Given the description of an element on the screen output the (x, y) to click on. 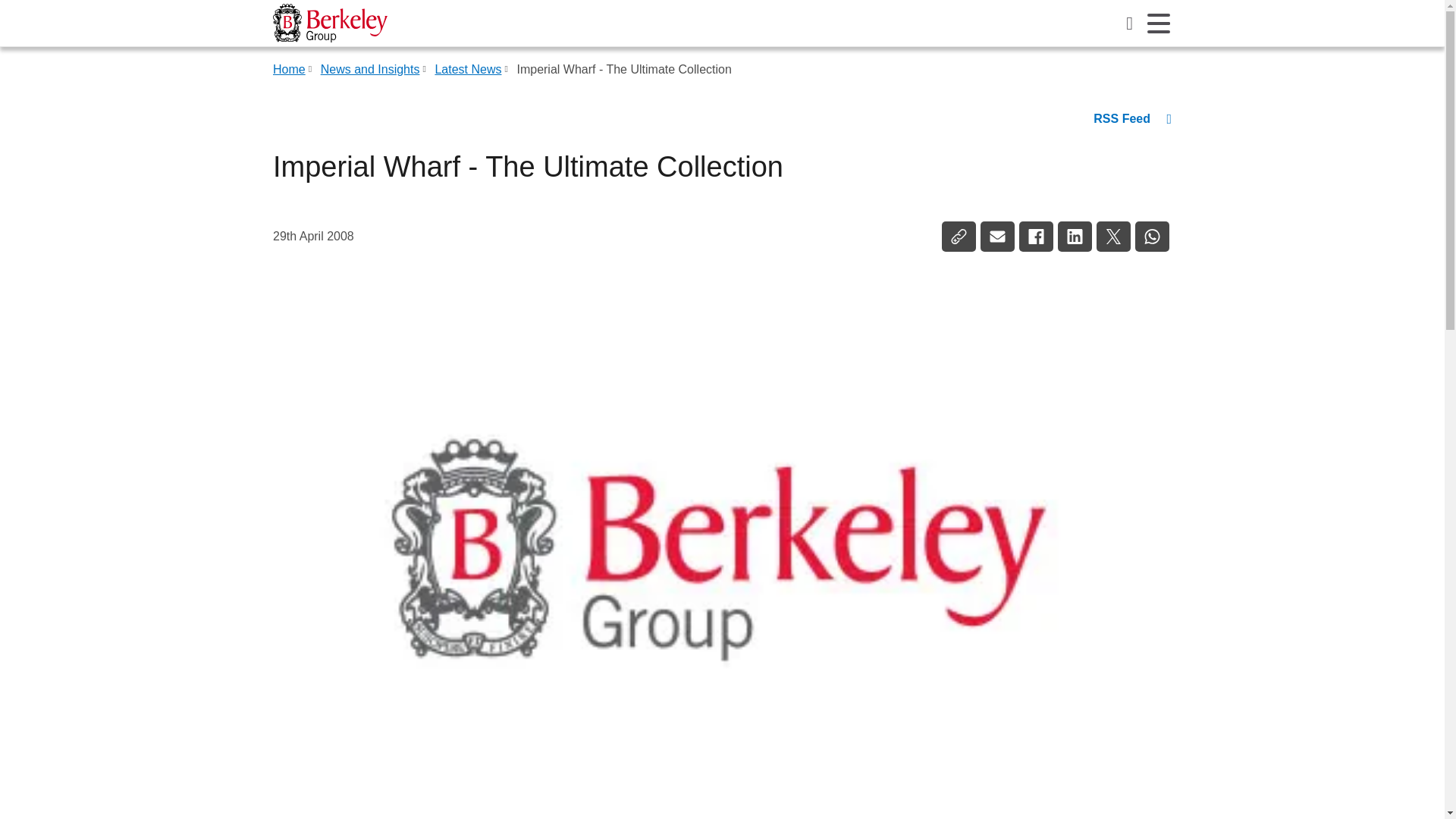
Berkeley Group PLC logo (330, 23)
Search (1129, 22)
